Given the description of an element on the screen output the (x, y) to click on. 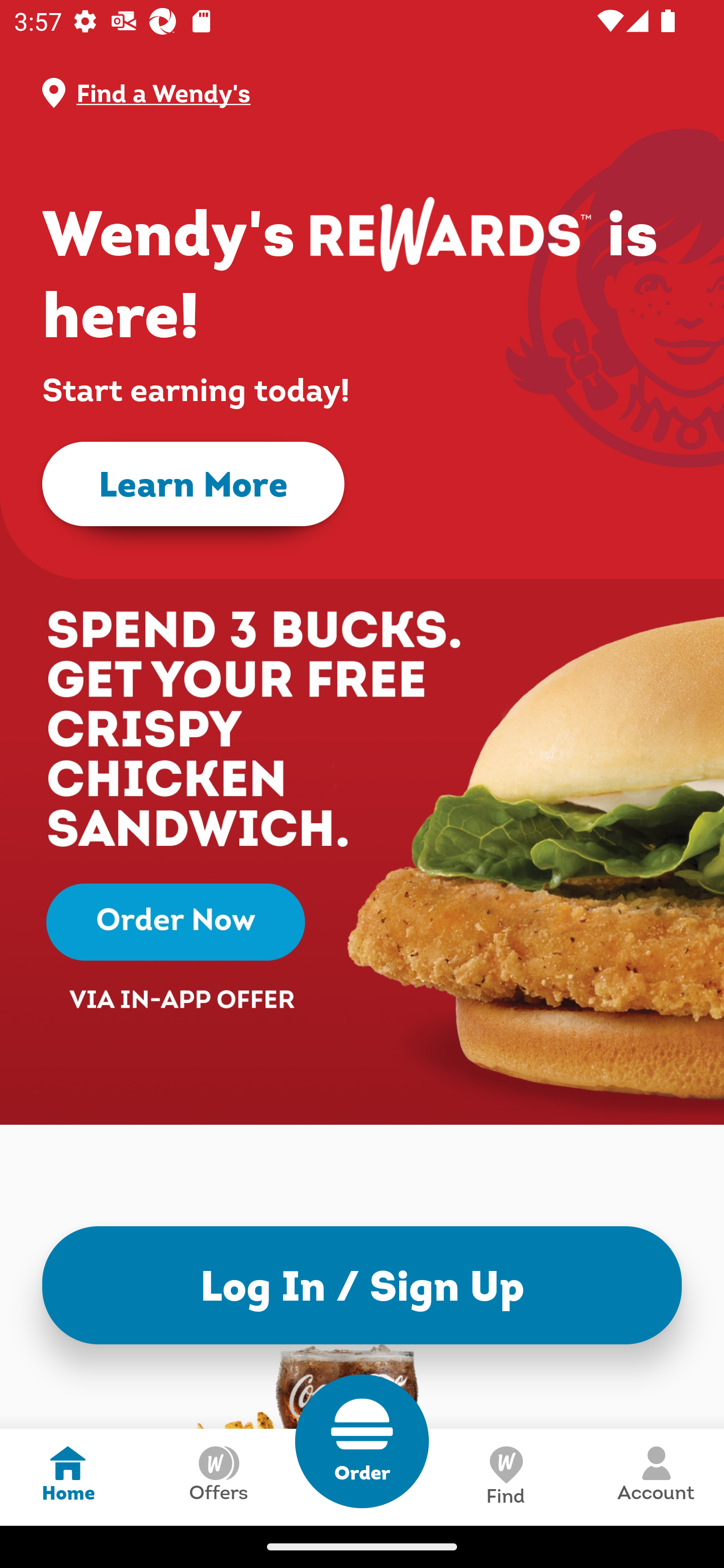
Find a Wendy's (378, 92)
Learn More (192, 484)
Campaign image (362, 807)
Log In / Sign Up (361, 1284)
Order,3 of 5 Order (361, 1441)
Home,1 of 5 Home (68, 1476)
Rewards,2 of 5 Offers Offers (218, 1476)
Scan,4 of 5 Find Find (505, 1476)
Account,5 of 5 Account (655, 1476)
